Given the description of an element on the screen output the (x, y) to click on. 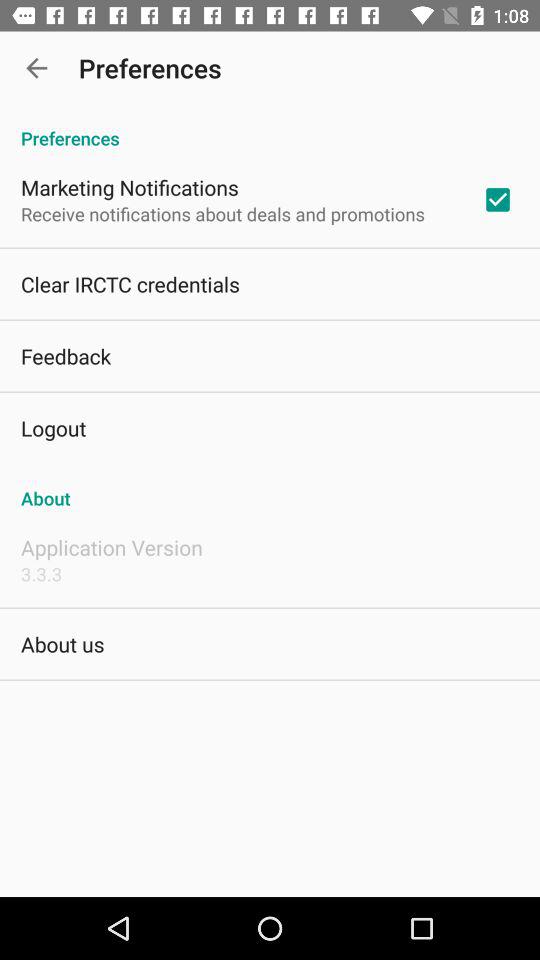
click the item to the right of receive notifications about (497, 199)
